Given the description of an element on the screen output the (x, y) to click on. 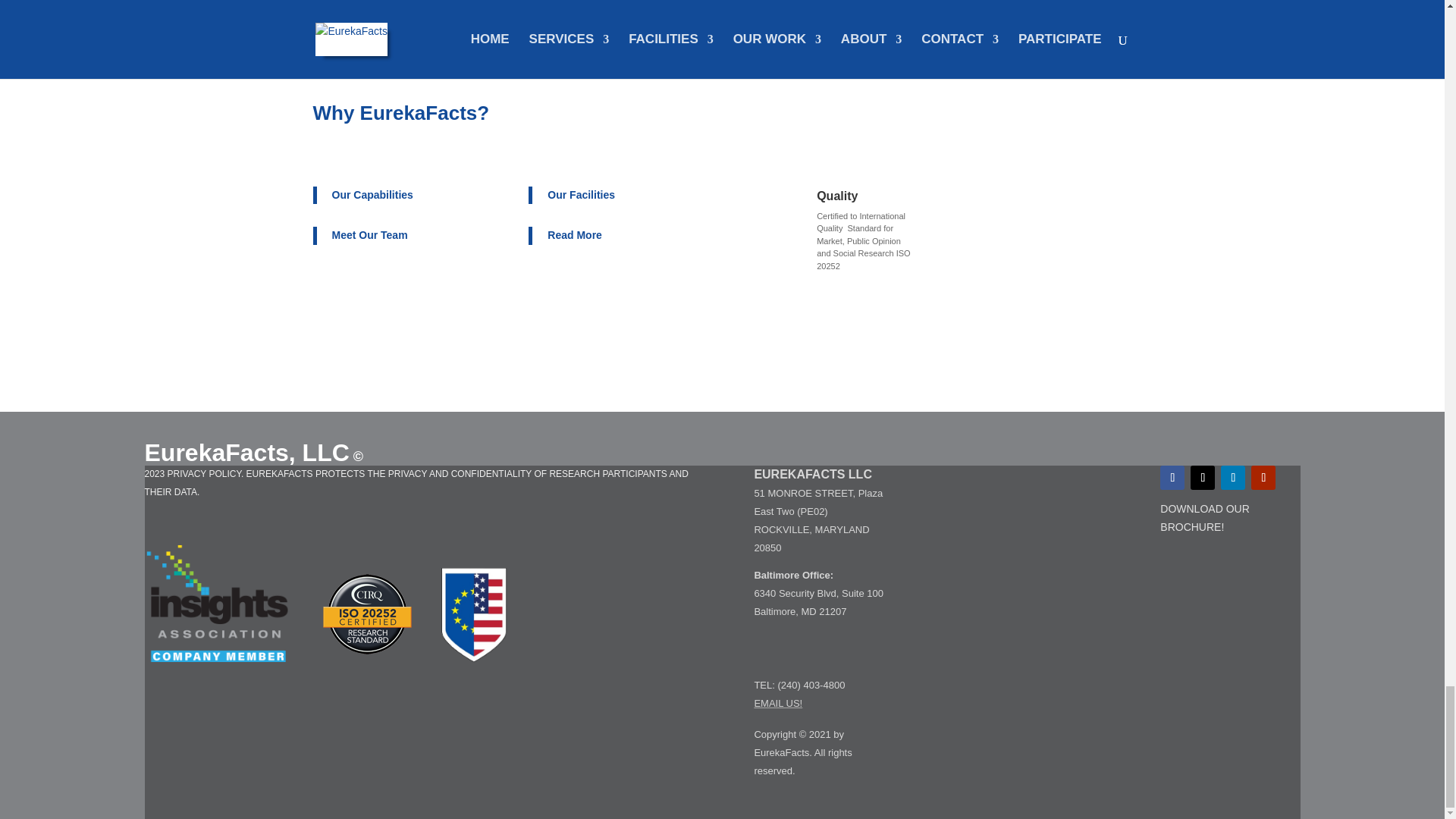
Follow on LinkedIn (1232, 477)
Download our brochure (1204, 517)
Follow on Facebook (1172, 477)
Follow on X (1202, 477)
Follow on Youtube (1262, 477)
